Given the description of an element on the screen output the (x, y) to click on. 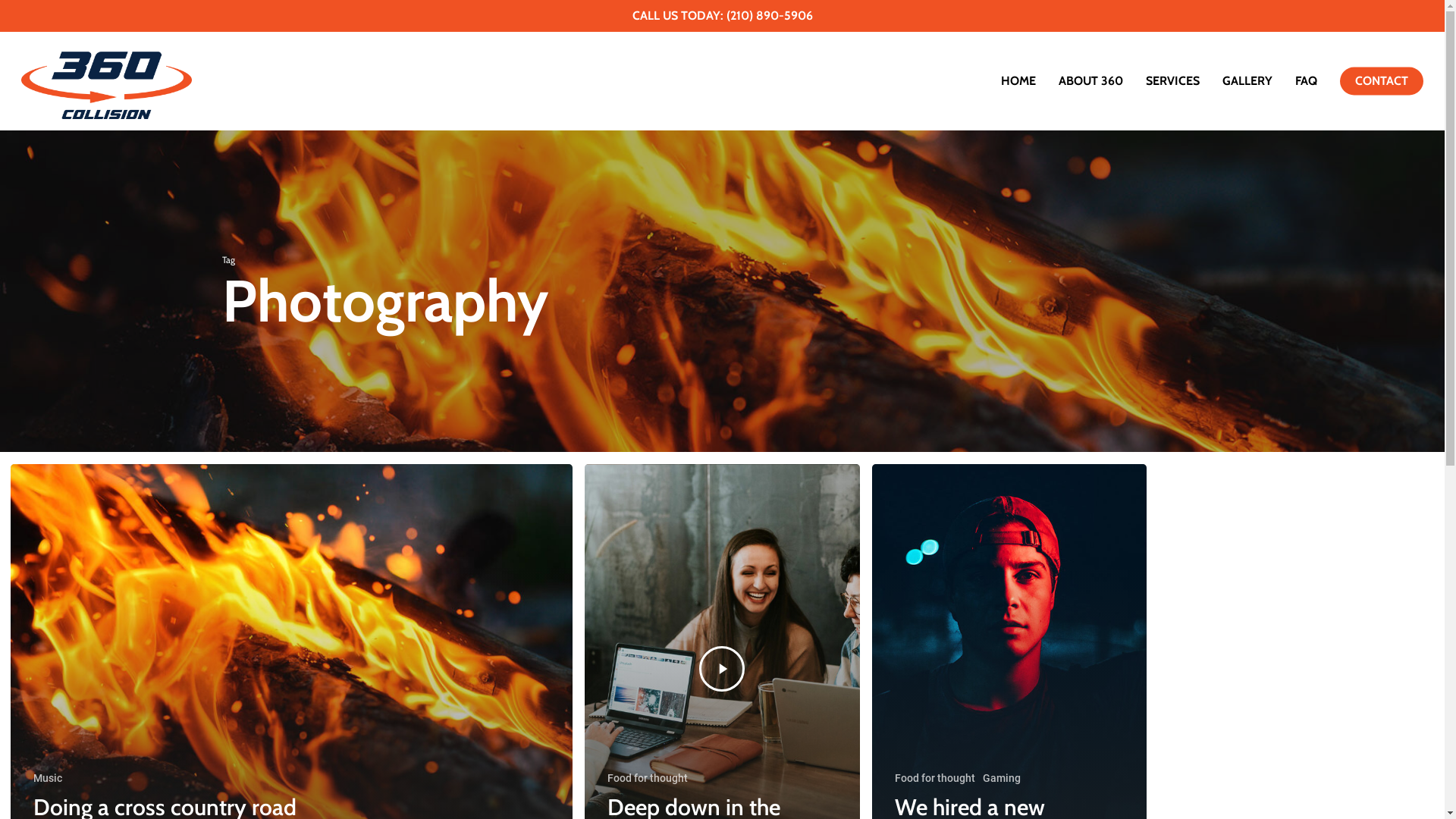
SERVICES Element type: text (1172, 81)
FAQ Element type: text (1306, 81)
Food for thought Element type: text (934, 778)
Music Element type: text (47, 778)
Food for thought Element type: text (647, 778)
CONTACT Element type: text (1381, 81)
Gaming Element type: text (1001, 778)
GALLERY Element type: text (1247, 81)
HOME Element type: text (1018, 81)
ABOUT 360 Element type: text (1090, 81)
CALL US TODAY: (210) 890-5906 Element type: text (722, 15)
